Given the description of an element on the screen output the (x, y) to click on. 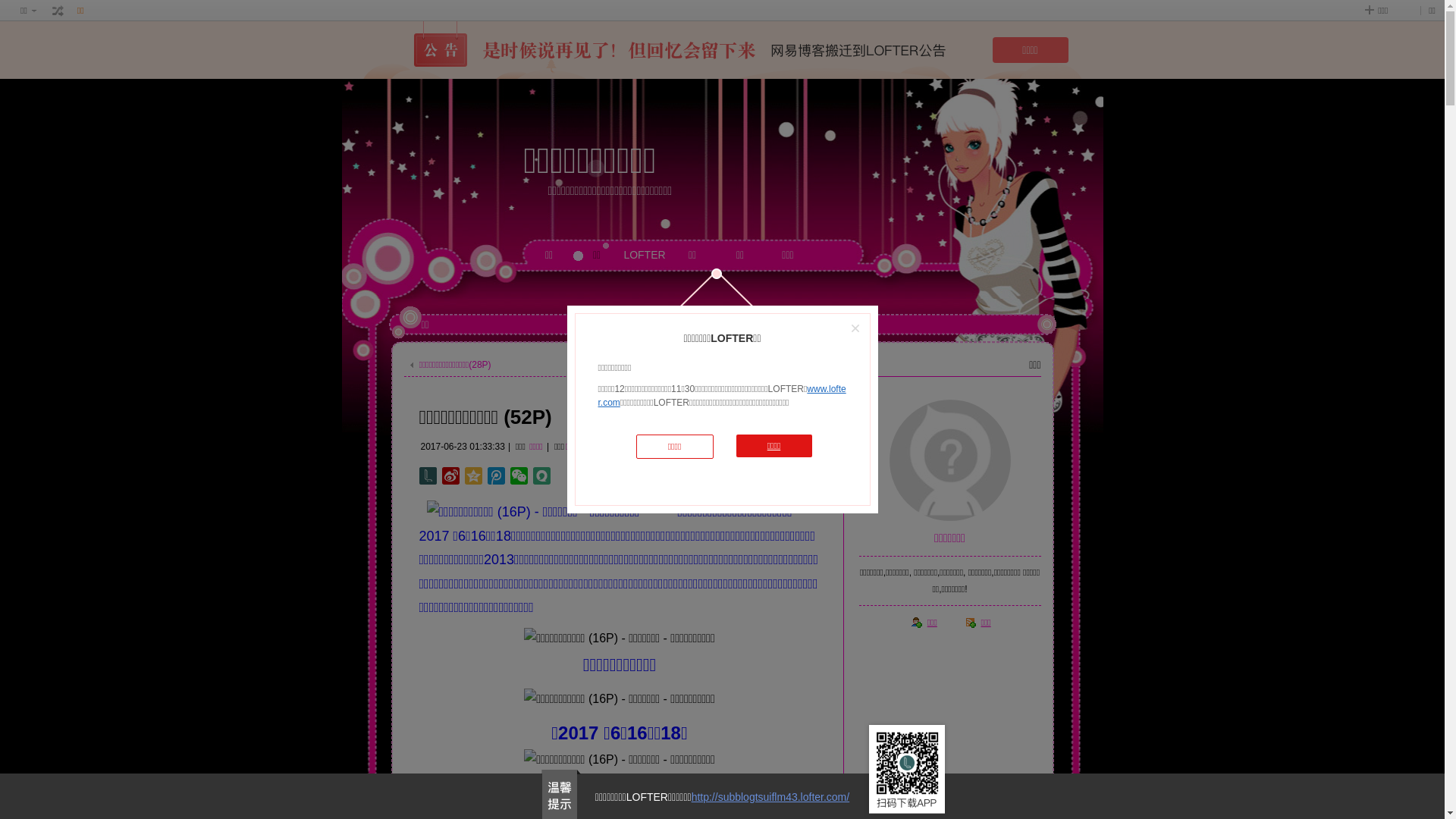
  Element type: text (58, 10)
LOFTER Element type: text (644, 268)
http://subblogtsuiflm43.lofter.com/ Element type: text (770, 796)
www.lofter.com Element type: text (721, 395)
